Given the description of an element on the screen output the (x, y) to click on. 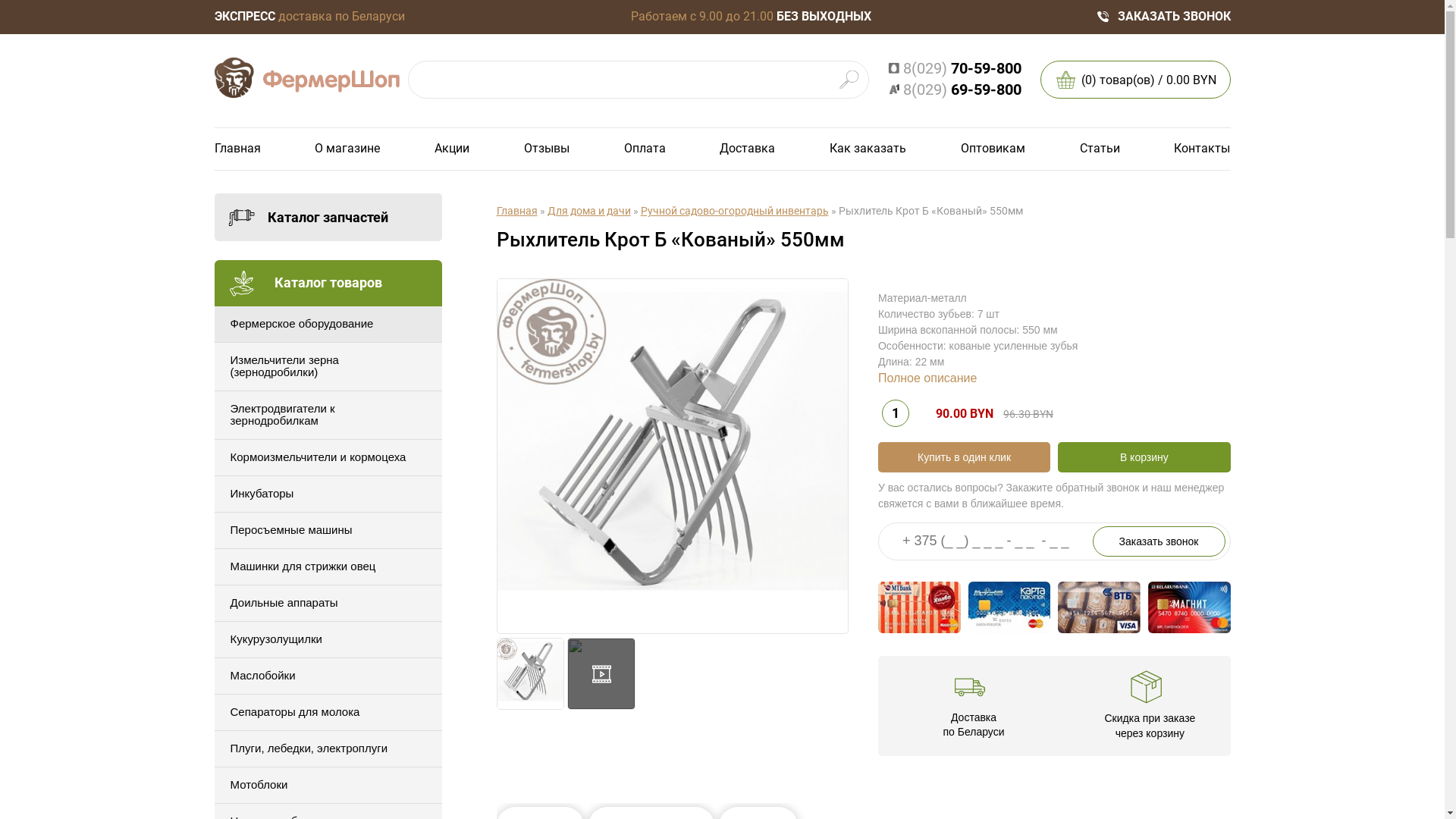
8(029) 70-59-800 Element type: text (953, 68)
8(029) 69-59-800 Element type: text (953, 89)
